Given the description of an element on the screen output the (x, y) to click on. 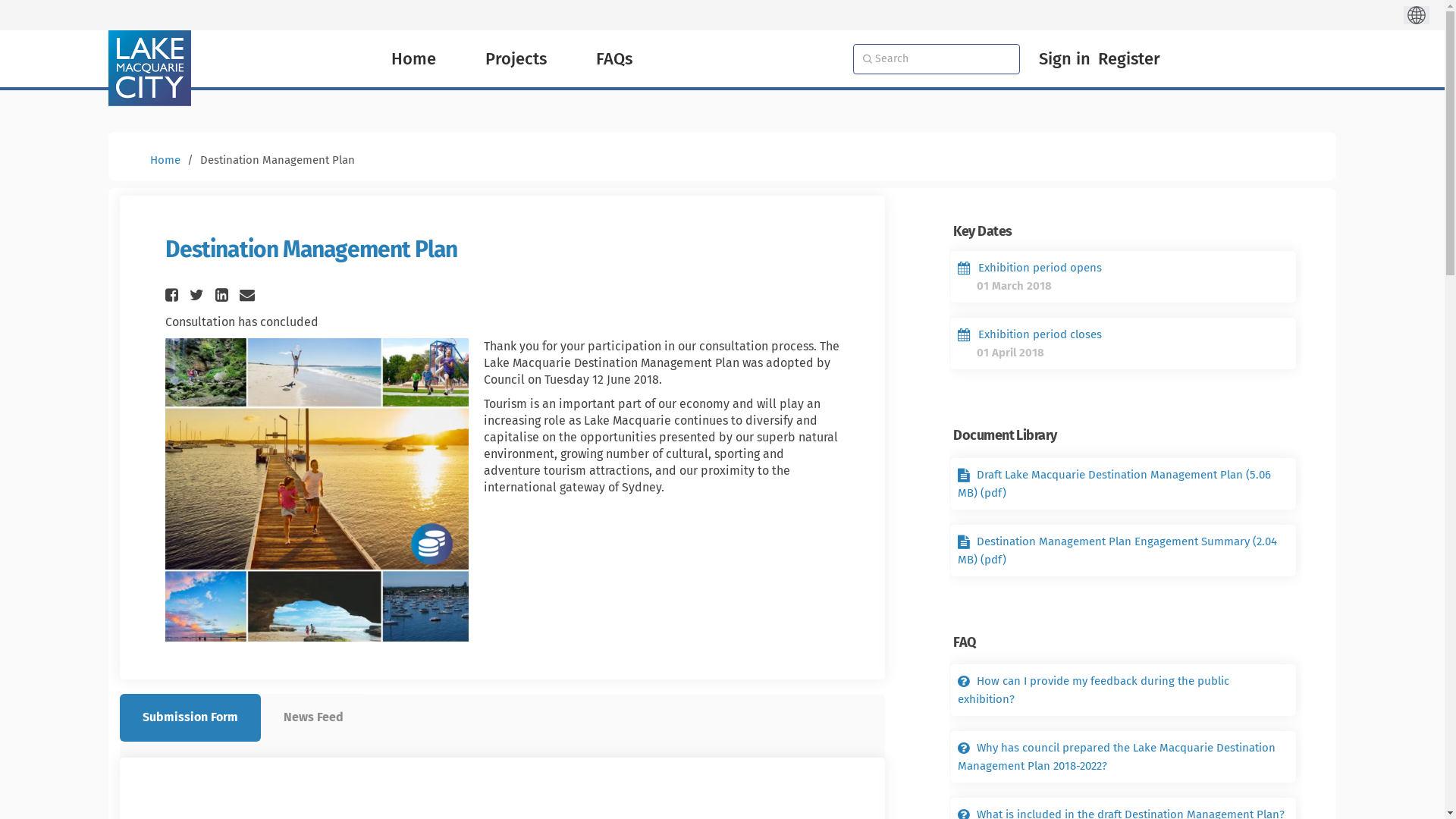
Submission Form Element type: text (189, 717)
How can I provide my feedback during the public exhibition? Element type: text (1093, 690)
Home Element type: text (165, 159)
Register Element type: text (1128, 58)
Projects Element type: text (514, 58)
Home Element type: text (412, 58)
Exhibition period opens Element type: text (1029, 267)
FAQs Element type: text (613, 58)
Lake Macquarie City Council - Home Element type: text (149, 68)
Exhibition period closes Element type: text (1029, 334)
Sign in Element type: text (1063, 58)
News Feed Element type: text (313, 717)
